Given the description of an element on the screen output the (x, y) to click on. 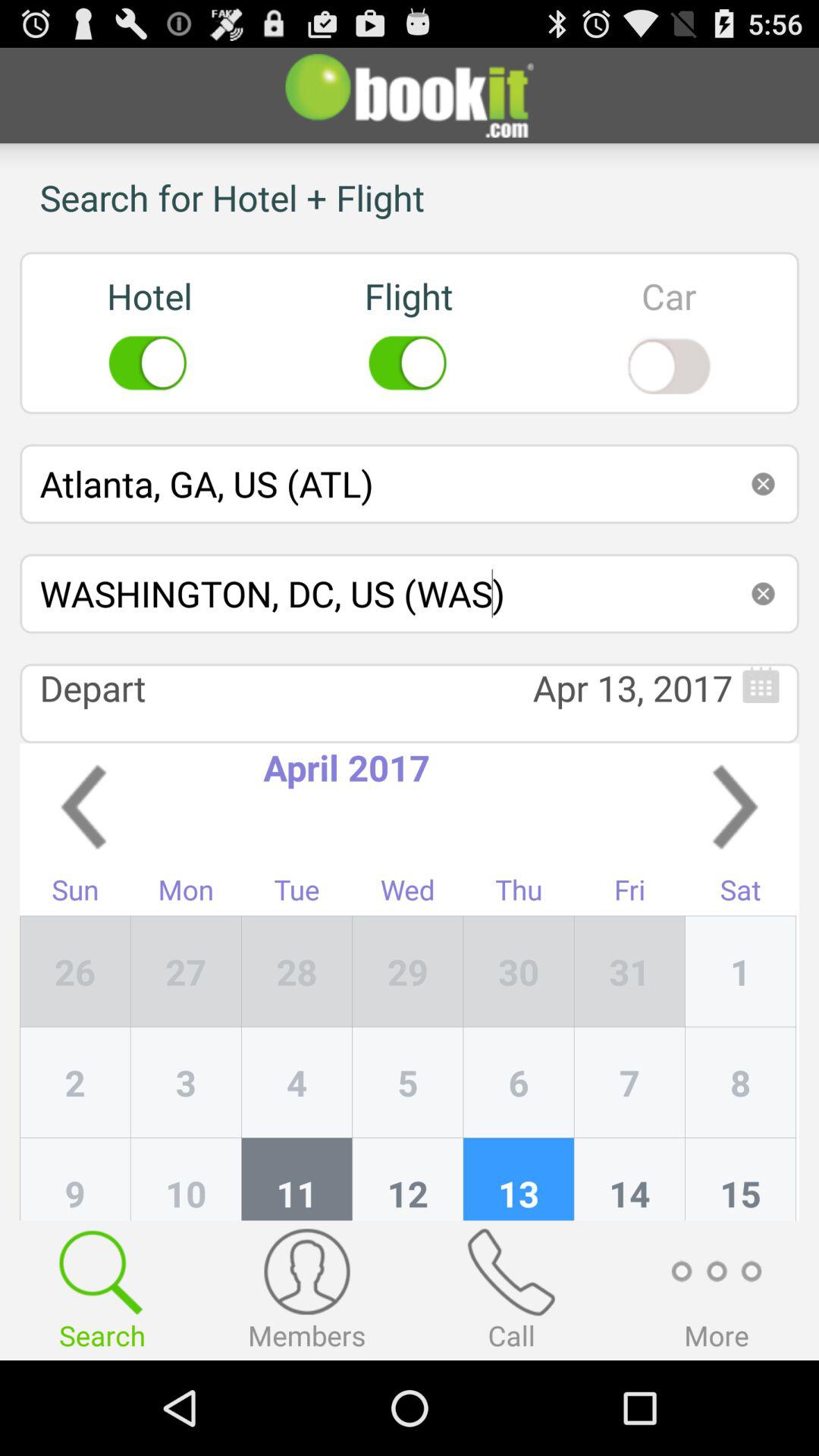
turn off item above search for hotel item (409, 95)
